Given the description of an element on the screen output the (x, y) to click on. 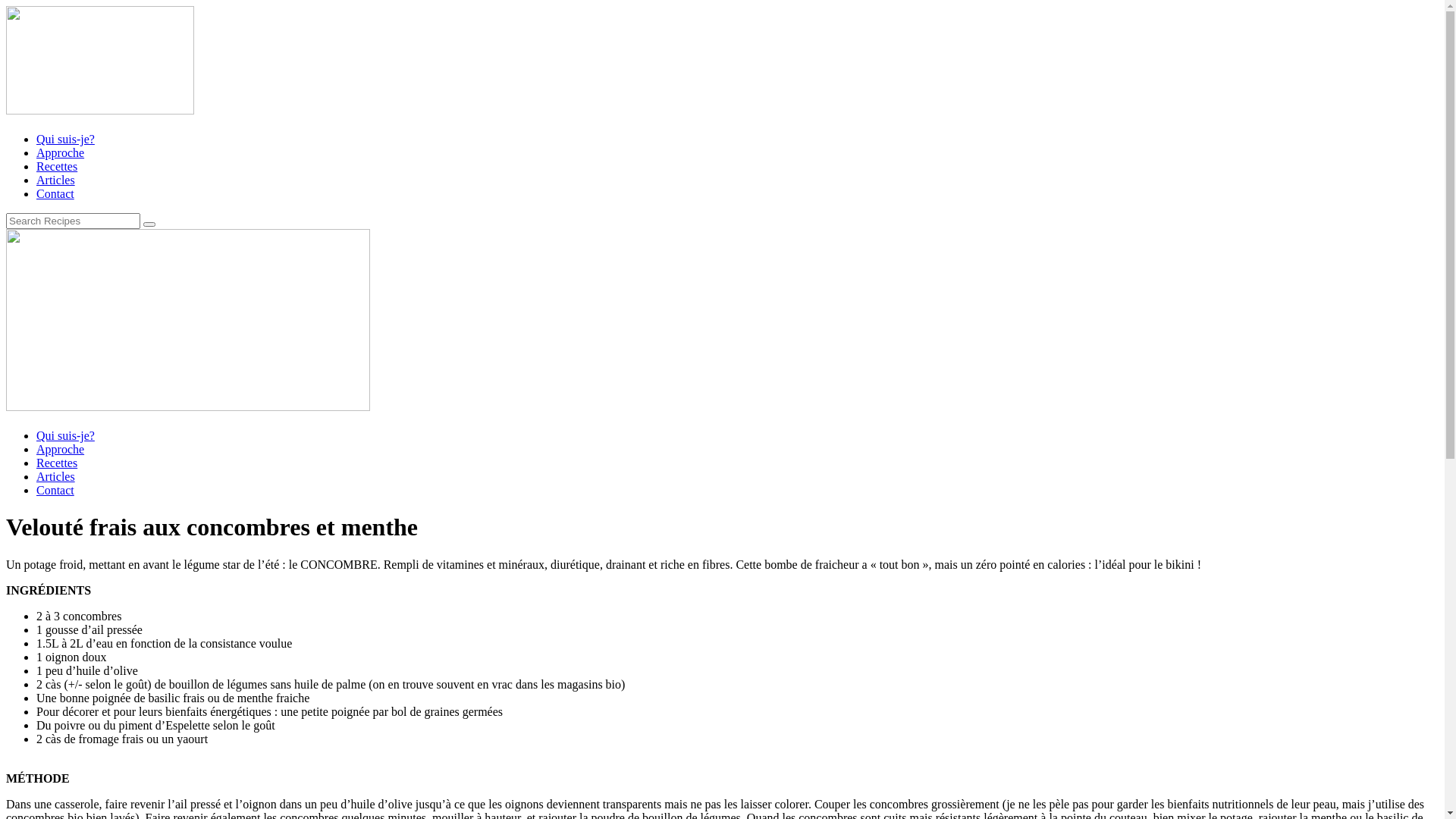
Contact Element type: text (55, 489)
Contact Element type: text (55, 193)
Qui suis-je? Element type: text (65, 435)
Articles Element type: text (55, 179)
Approche Element type: text (60, 448)
Approche Element type: text (60, 152)
Qui suis-je? Element type: text (65, 138)
Recettes Element type: text (56, 462)
Recettes Element type: text (56, 166)
Articles Element type: text (55, 476)
